Given the description of an element on the screen output the (x, y) to click on. 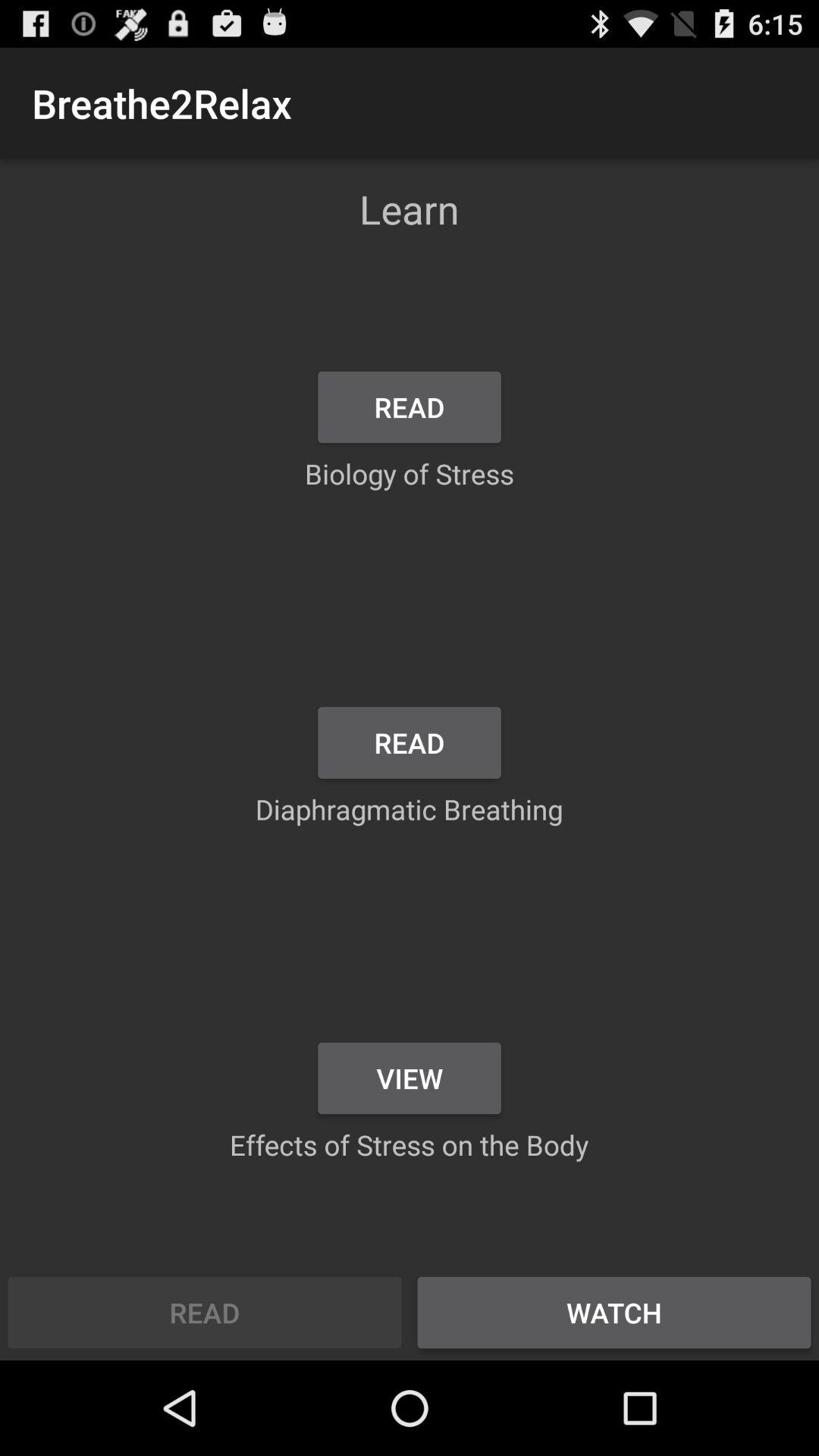
launch the watch at the bottom right corner (614, 1312)
